Given the description of an element on the screen output the (x, y) to click on. 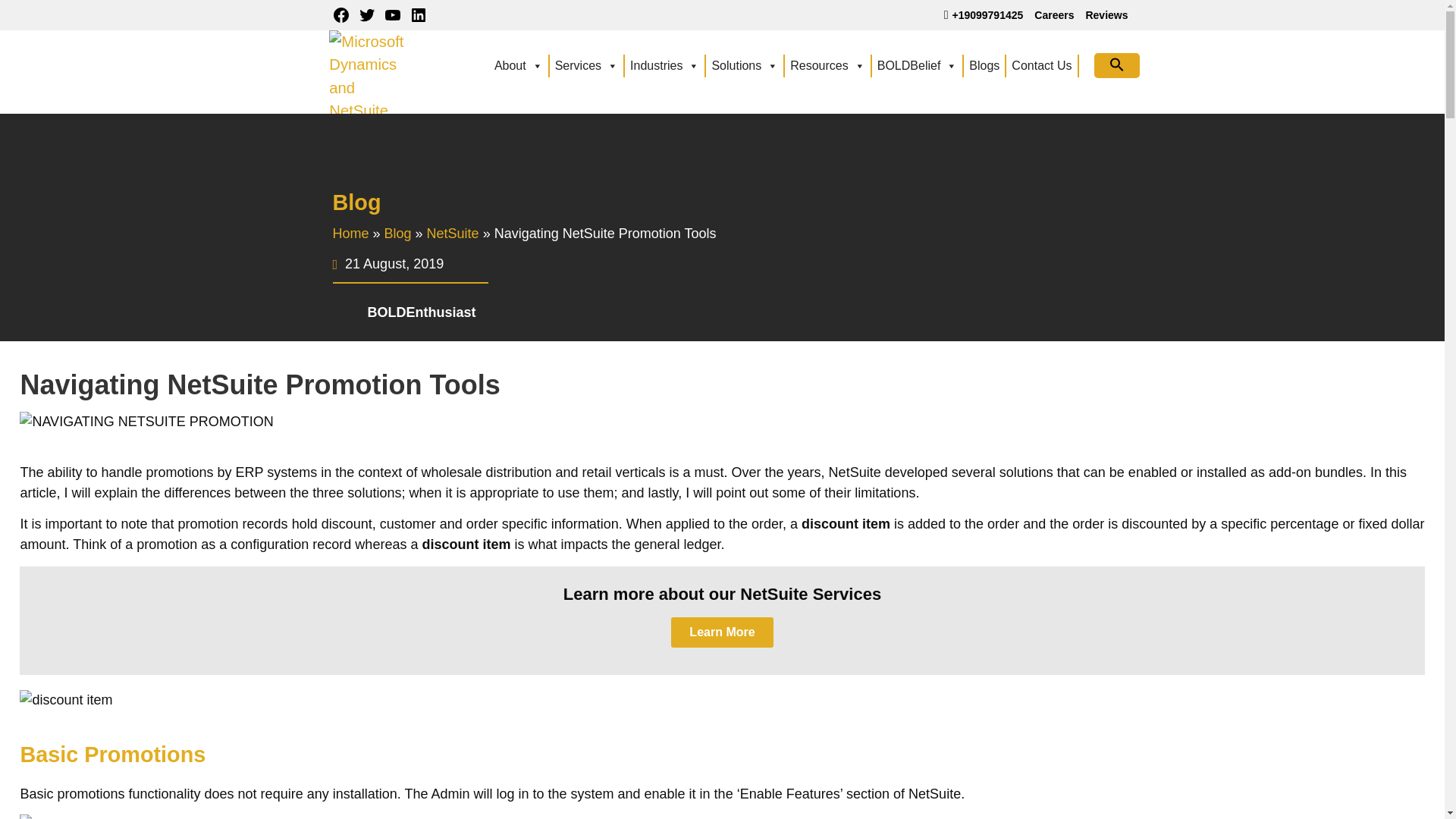
promotion2 (146, 421)
Services (587, 65)
Industries (665, 65)
Reviews (1105, 15)
About (519, 65)
Careers (1053, 15)
Solutions (745, 65)
